Given the description of an element on the screen output the (x, y) to click on. 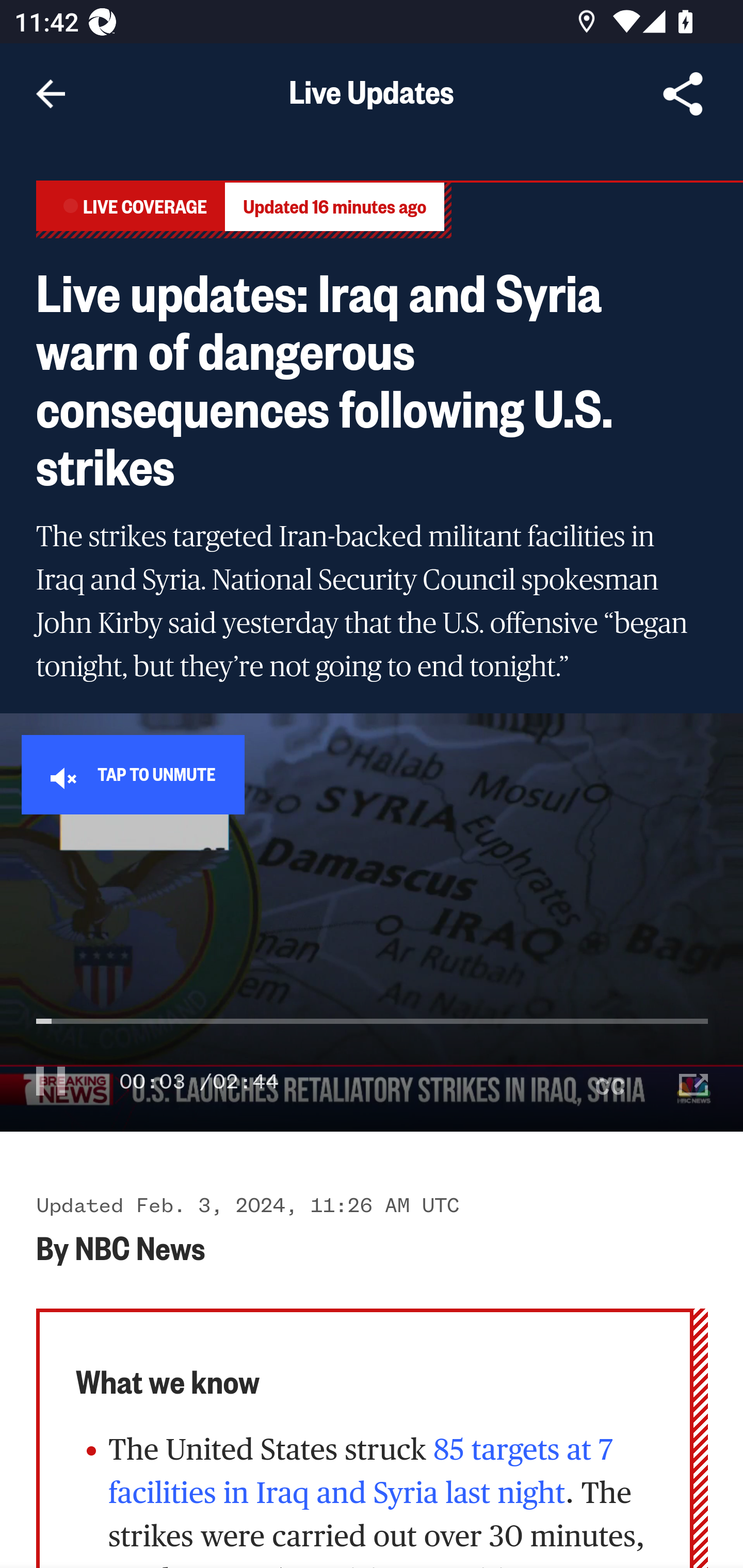
Navigate up (50, 93)
Share Article, button (683, 94)
 TAP TO UNMUTE (133, 773)
indeterminate (372, 1039)
 (50, 1080)
 (610, 1080)
 (694, 1080)
